Given the description of an element on the screen output the (x, y) to click on. 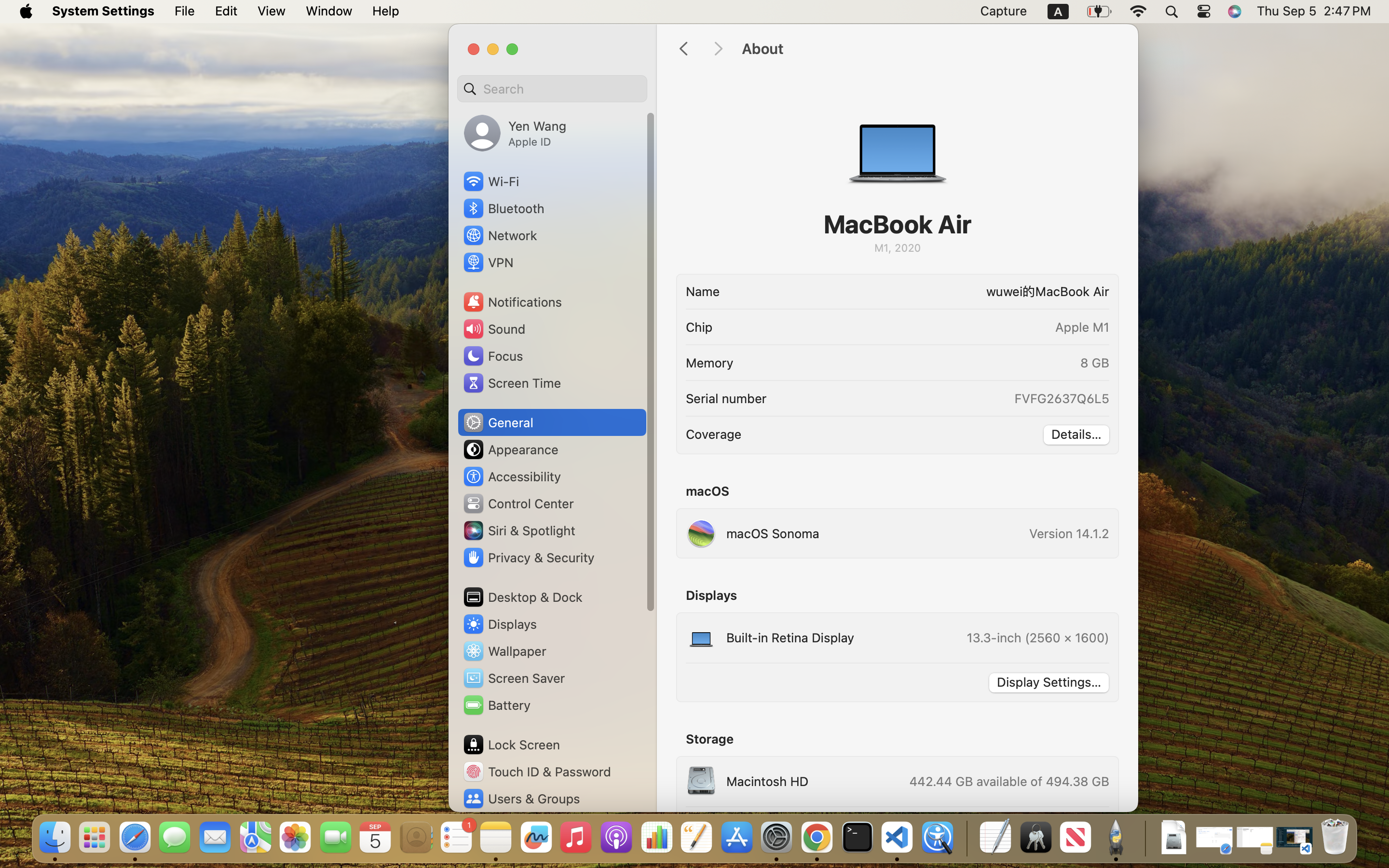
About Element type: AXStaticText (929, 49)
wuwei的MacBook Air Element type: AXTextField (917, 290)
Version 14.1.2 Element type: AXStaticText (1069, 533)
Network Element type: AXStaticText (499, 234)
Control Center Element type: AXStaticText (517, 503)
